Given the description of an element on the screen output the (x, y) to click on. 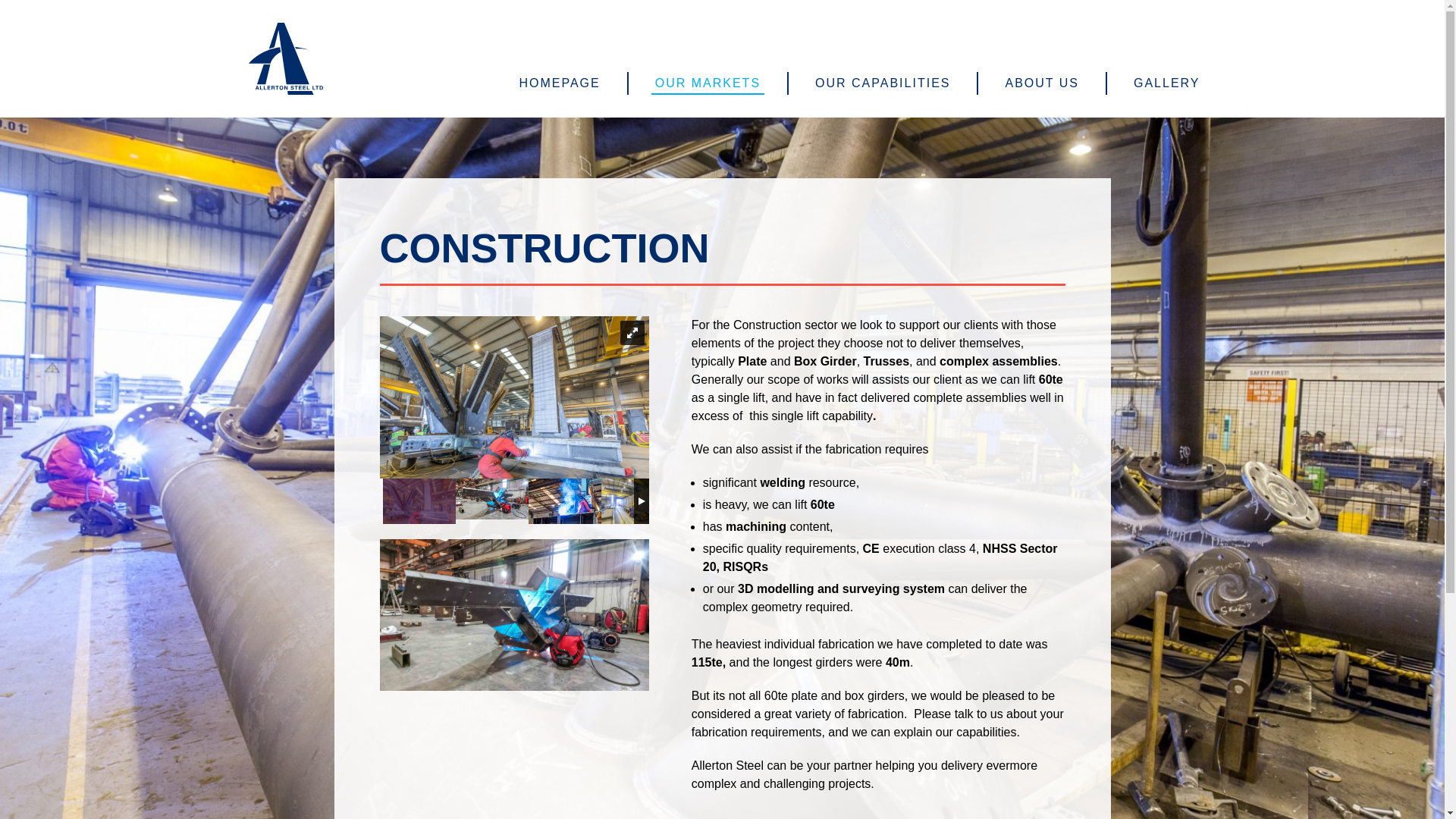
GALLERY (1166, 83)
HOMEPAGE (559, 83)
OUR MARKETS (707, 83)
ABOUT US (1042, 83)
OUR CAPABILITIES (881, 83)
